Given the description of an element on the screen output the (x, y) to click on. 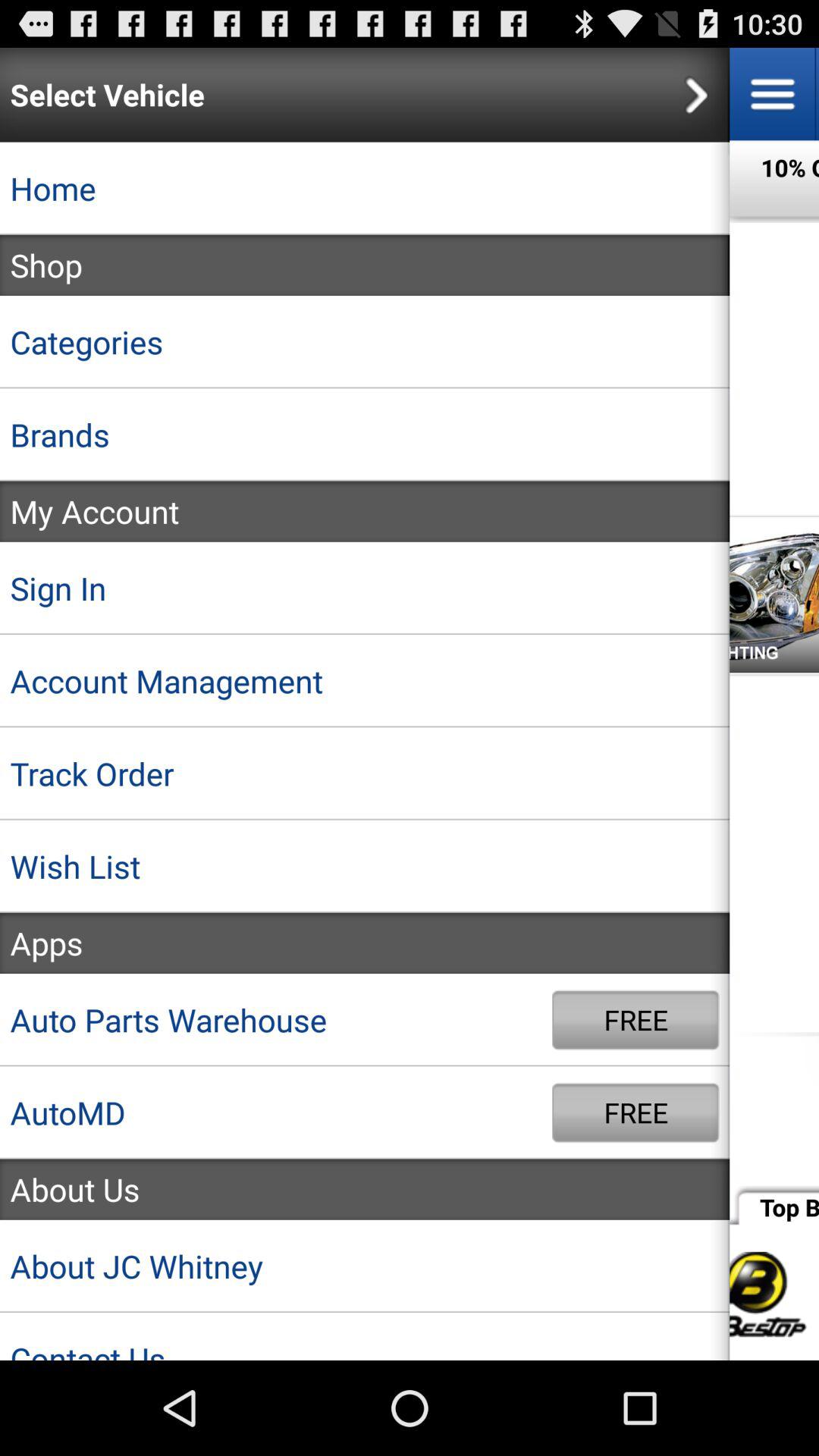
launch track order (364, 773)
